Given the description of an element on the screen output the (x, y) to click on. 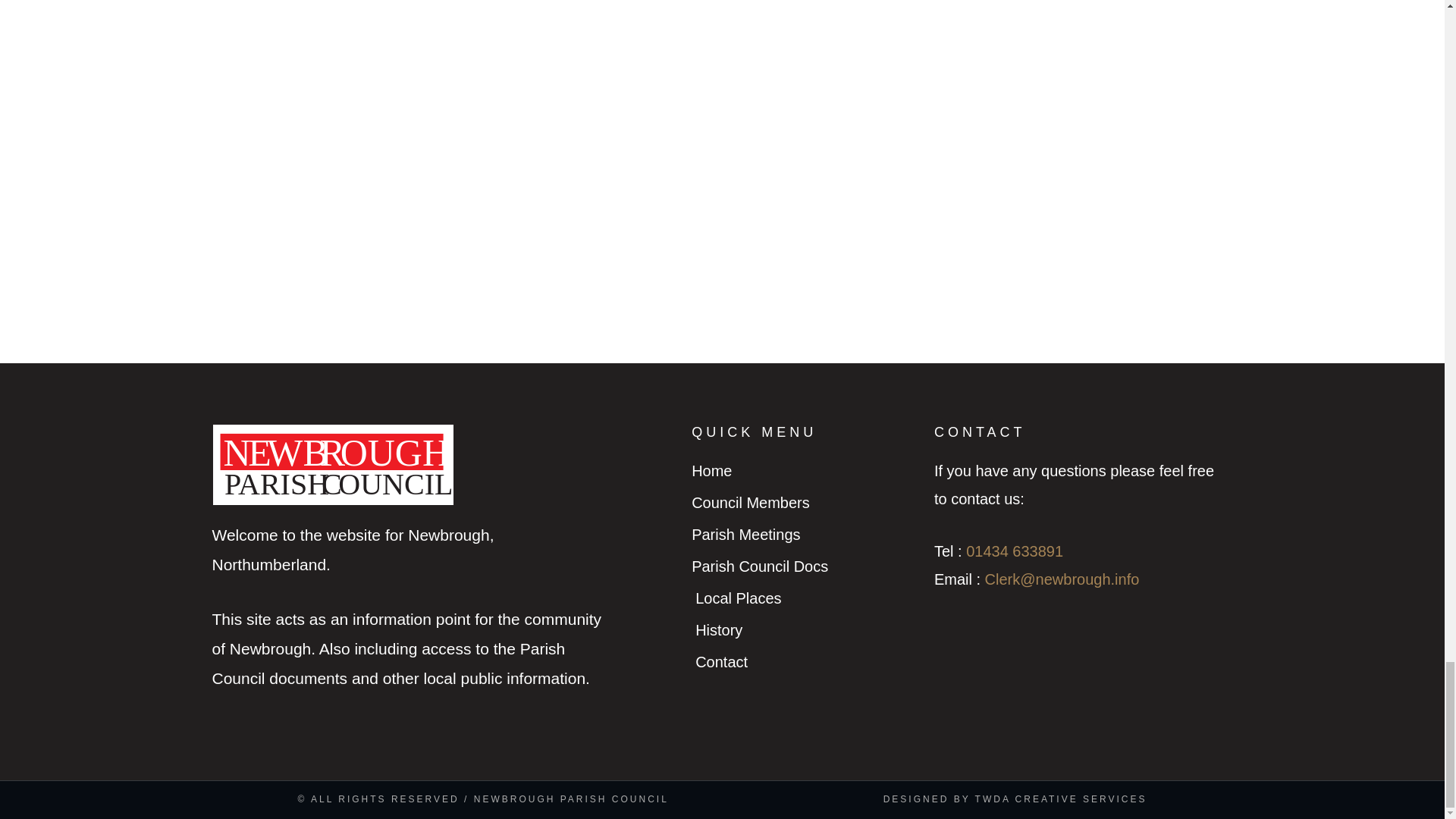
Local Places (804, 598)
Contact (804, 662)
Council Members (804, 502)
Parish Council Docs (804, 566)
Parish Meetings (804, 534)
History (804, 630)
Home (804, 471)
